Given the description of an element on the screen output the (x, y) to click on. 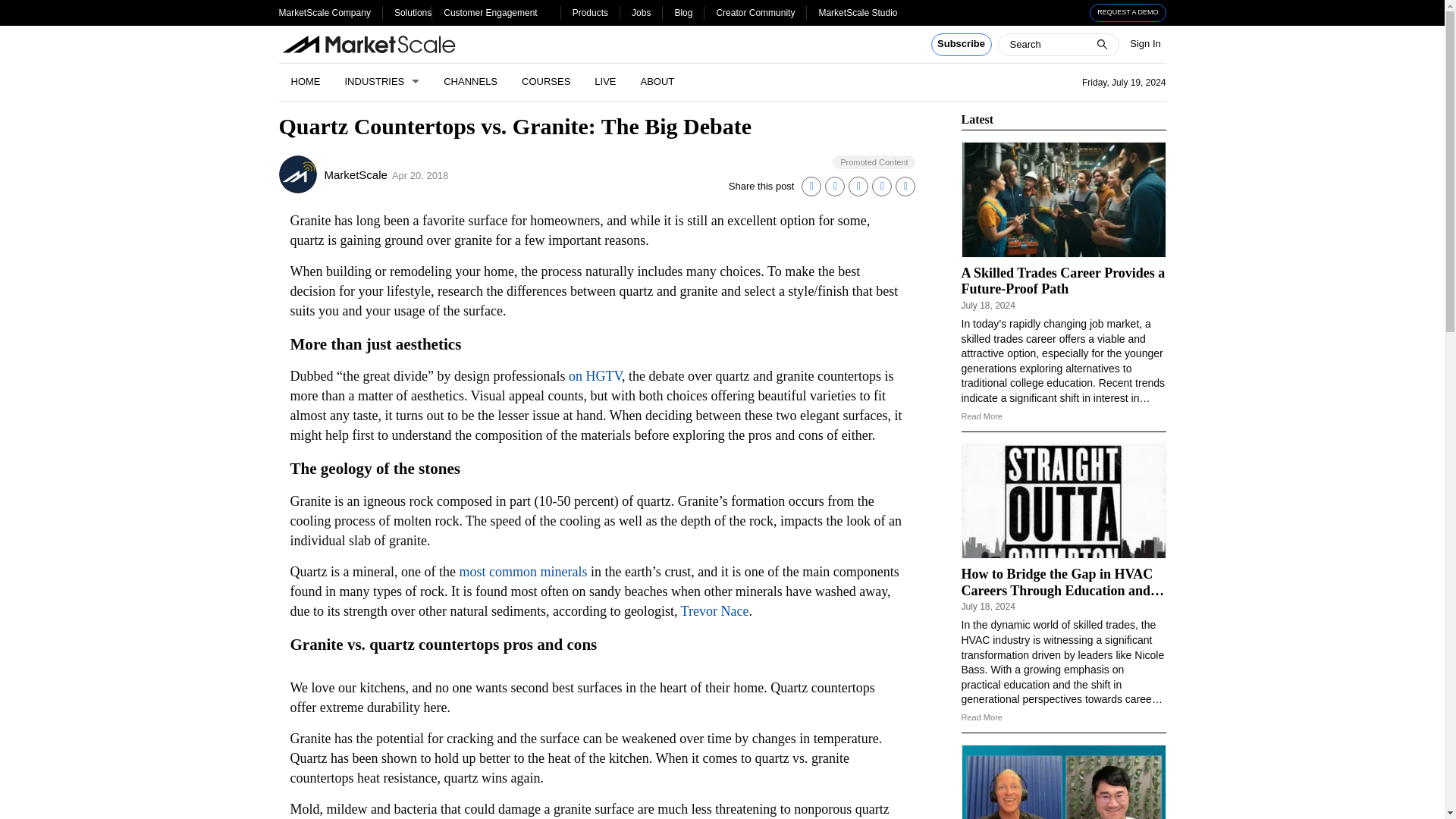
MarketScale Company (325, 12)
Creator Community (755, 12)
Share on Linkedin (811, 186)
MarketScale Studio (857, 12)
Share on X (834, 186)
Search (21, 7)
Blog (683, 12)
Jobs (640, 12)
Customer Engagement (490, 12)
REQUEST A DEMO (1127, 13)
Subscribe (961, 44)
MarketScale (355, 173)
Share on Email (881, 186)
MarketScale (298, 174)
Copy Link (905, 186)
